Given the description of an element on the screen output the (x, y) to click on. 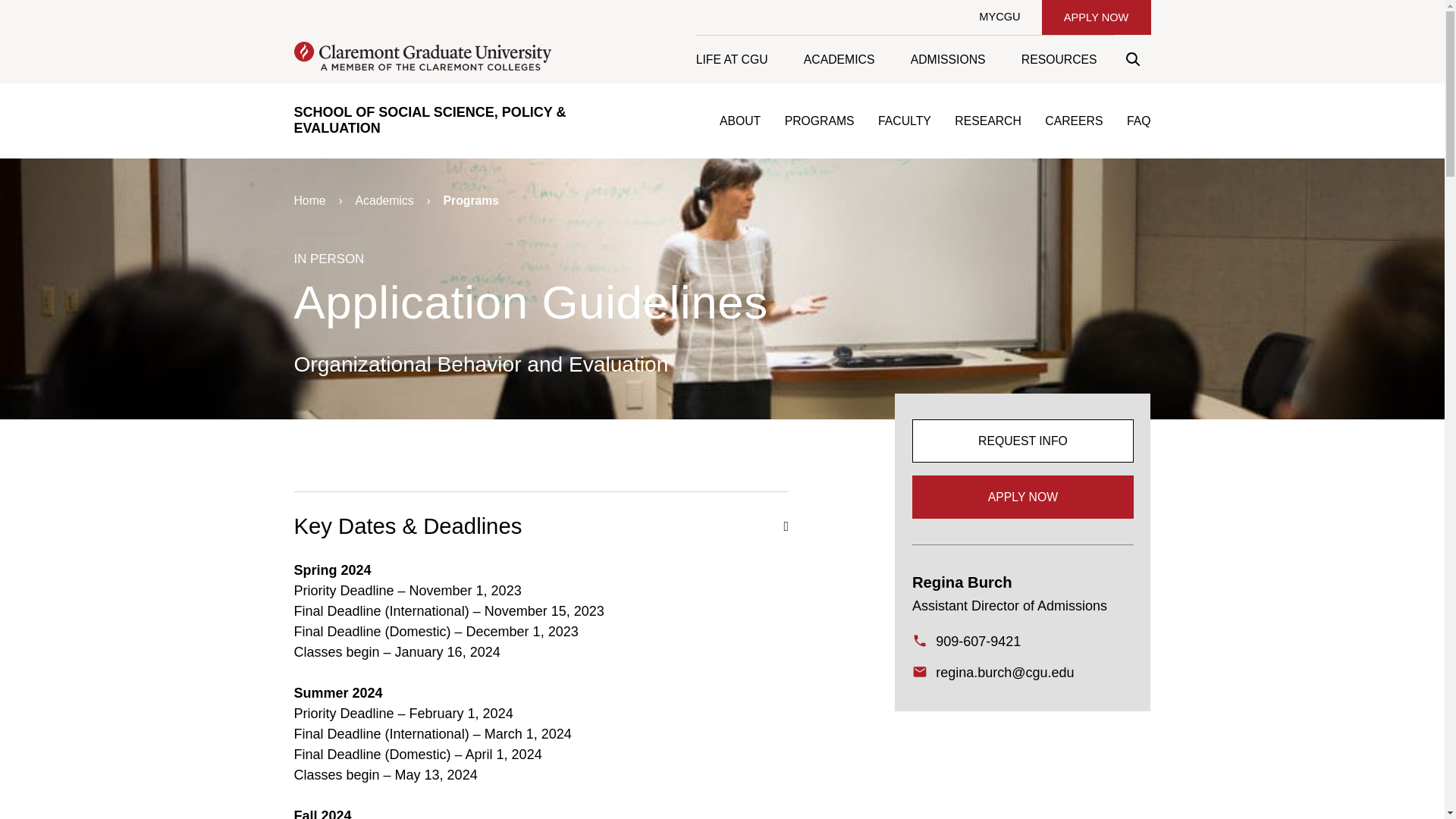
open search field (1132, 58)
ADMISSIONS (947, 59)
ACADEMICS (839, 59)
APPLY NOW (1096, 17)
MYCGU (1000, 16)
LIFE AT CGU (740, 59)
